Given the description of an element on the screen output the (x, y) to click on. 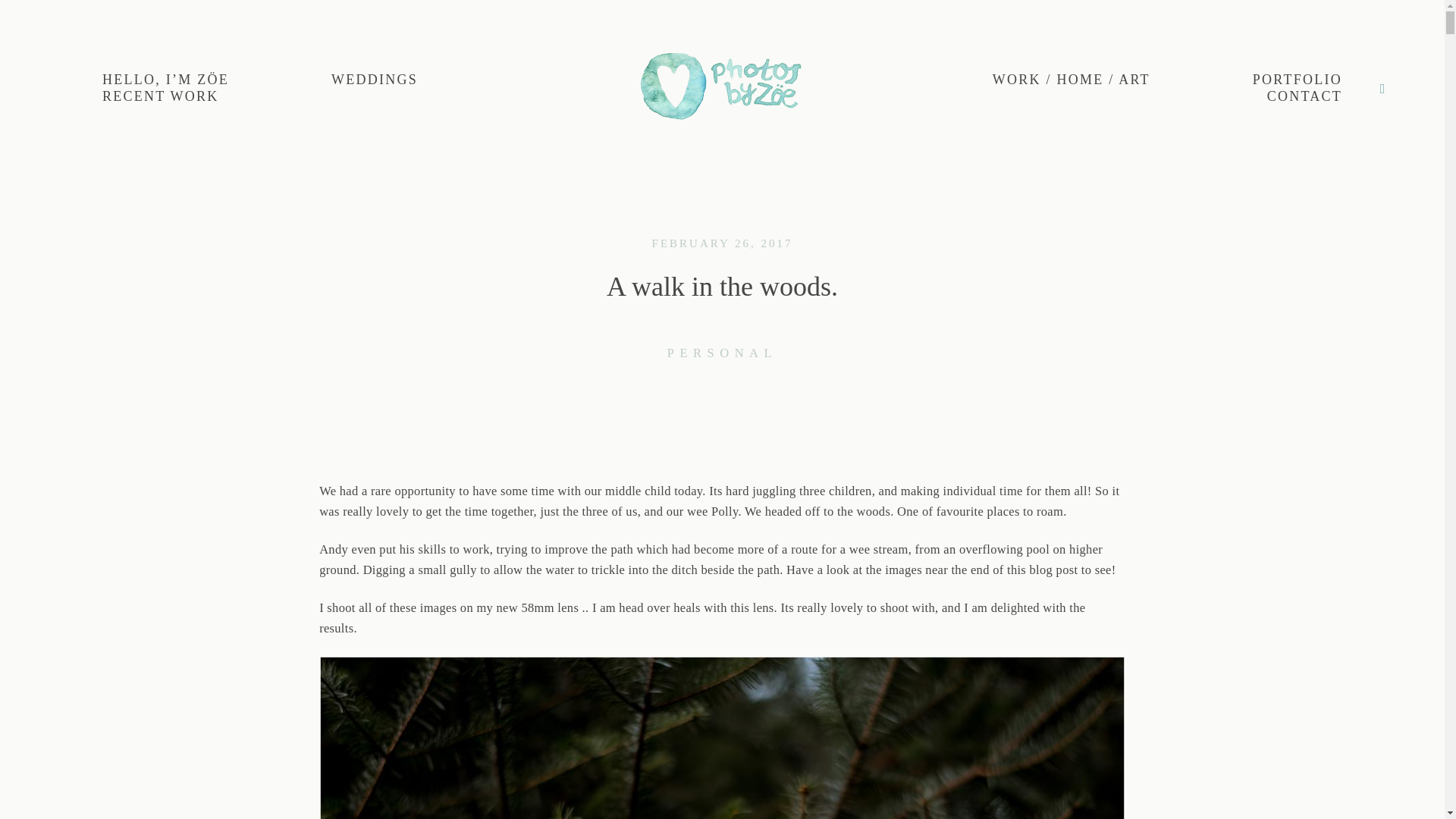
PORTFOLIO (1297, 80)
CONTACT (1304, 96)
non clickable (1297, 80)
RECENT WORK (160, 96)
WEDDINGS (374, 80)
PERSONAL (721, 352)
